Given the description of an element on the screen output the (x, y) to click on. 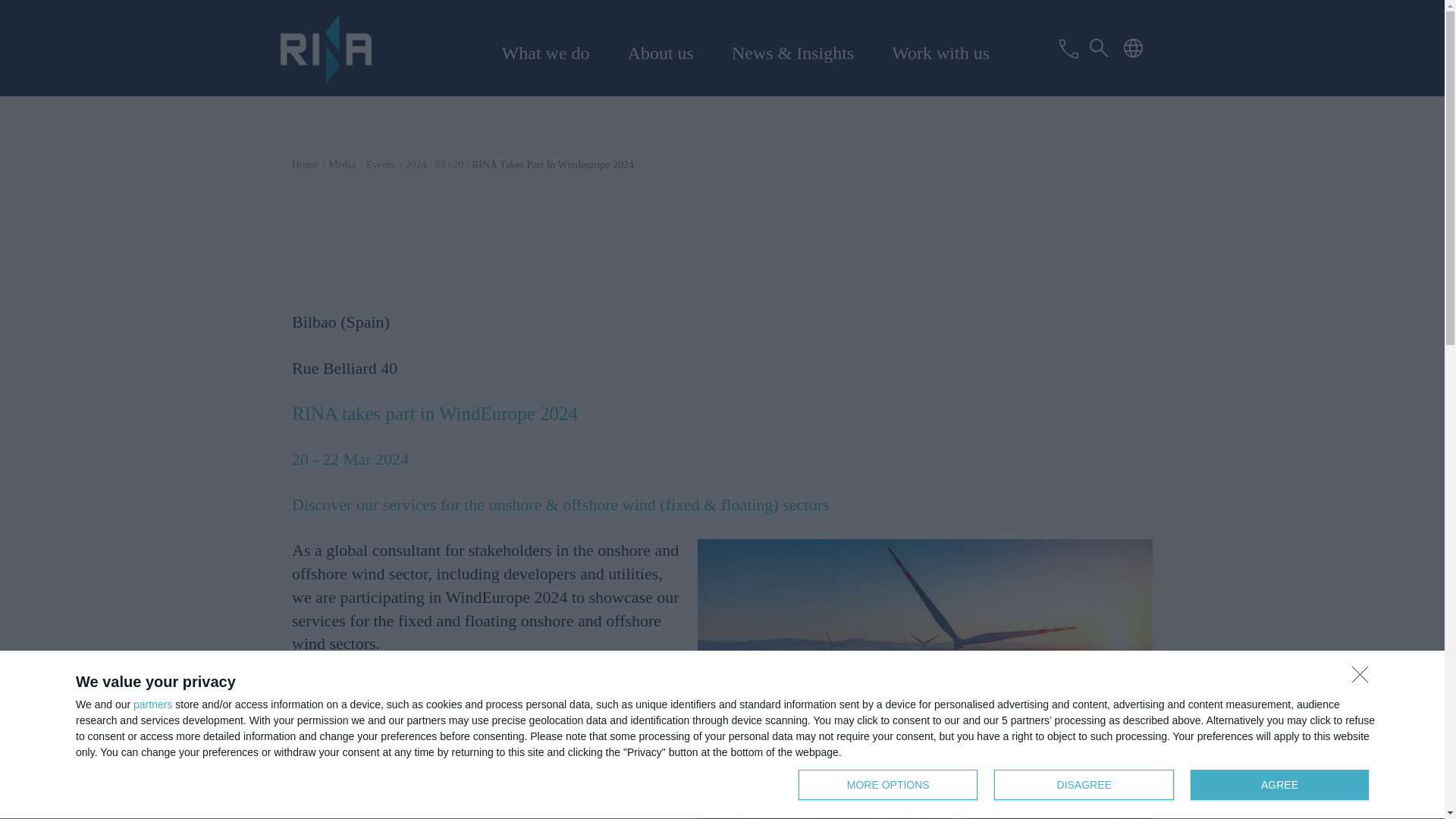
MORE OPTIONS (886, 784)
partners (152, 704)
DISAGREE (1083, 784)
AGREE (1086, 785)
What we do (1279, 784)
